Given the description of an element on the screen output the (x, y) to click on. 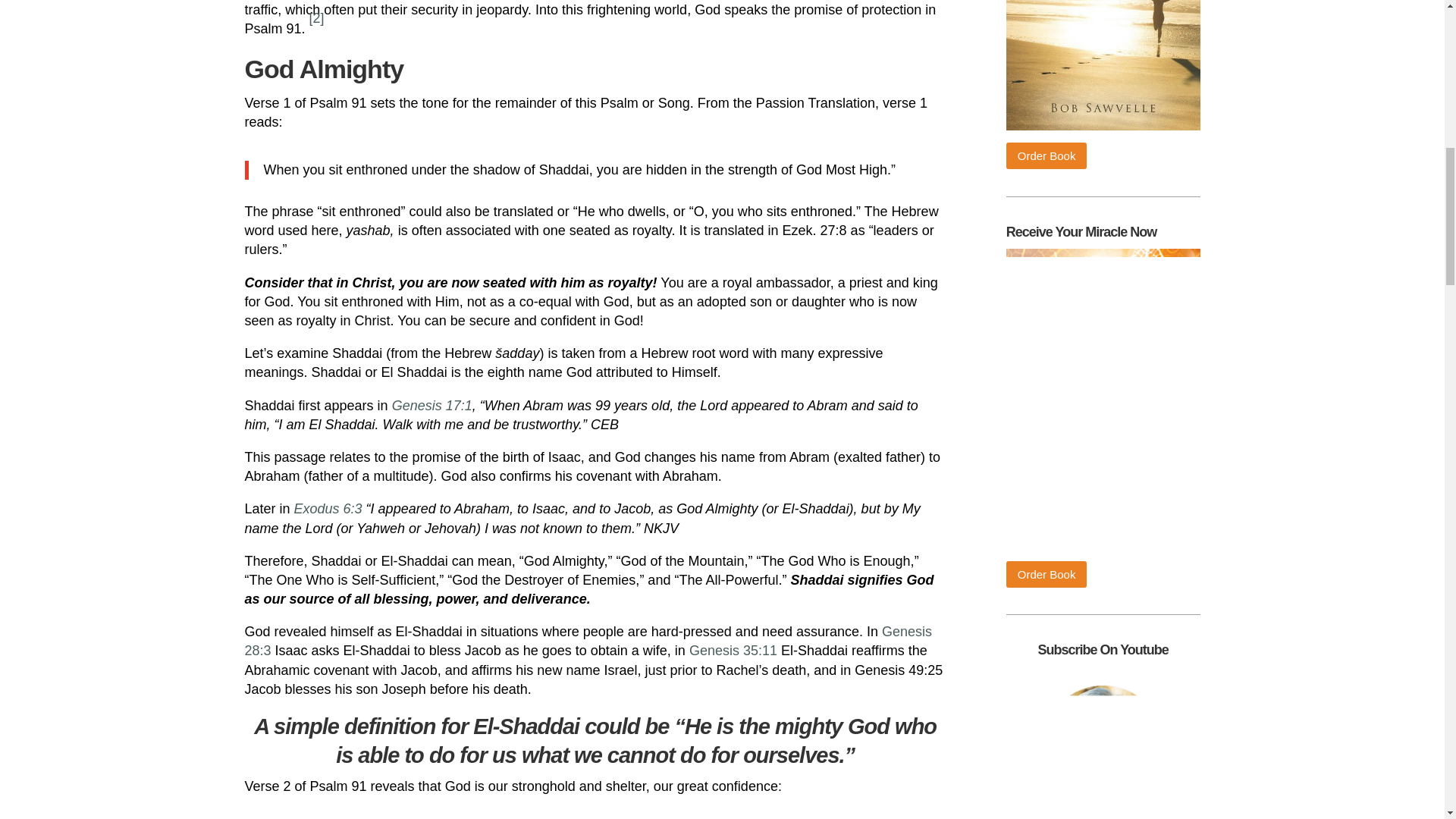
Order Book (1046, 574)
Order Book (1046, 155)
Genesis 28:3 (587, 641)
BobSignatureYouTubeNew2 (1102, 743)
Genesis 35:11 (732, 650)
Exodus 6:3 (325, 508)
Genesis 17:1 (431, 405)
